Given the description of an element on the screen output the (x, y) to click on. 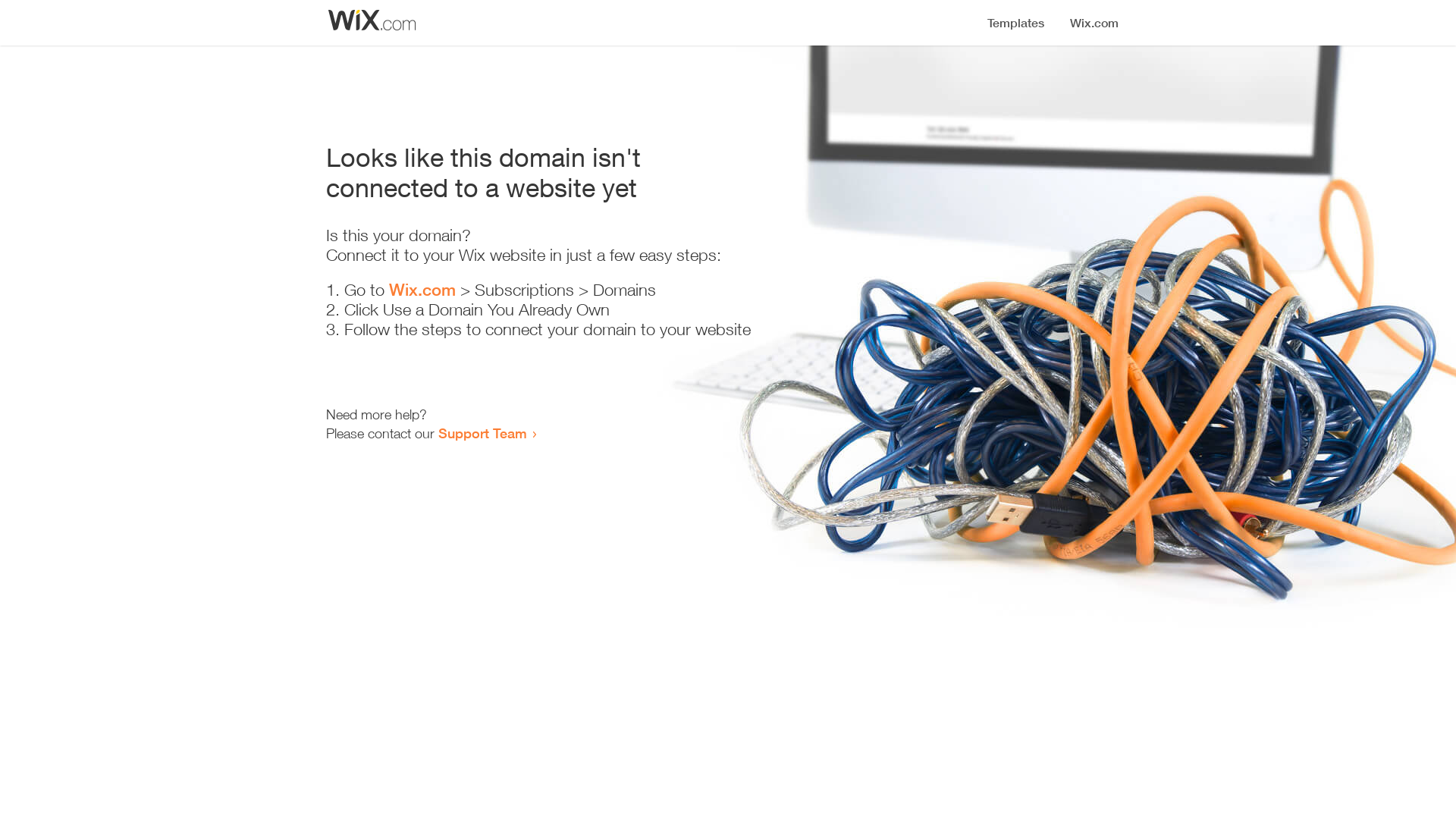
Wix.com Element type: text (422, 289)
Support Team Element type: text (482, 432)
